Given the description of an element on the screen output the (x, y) to click on. 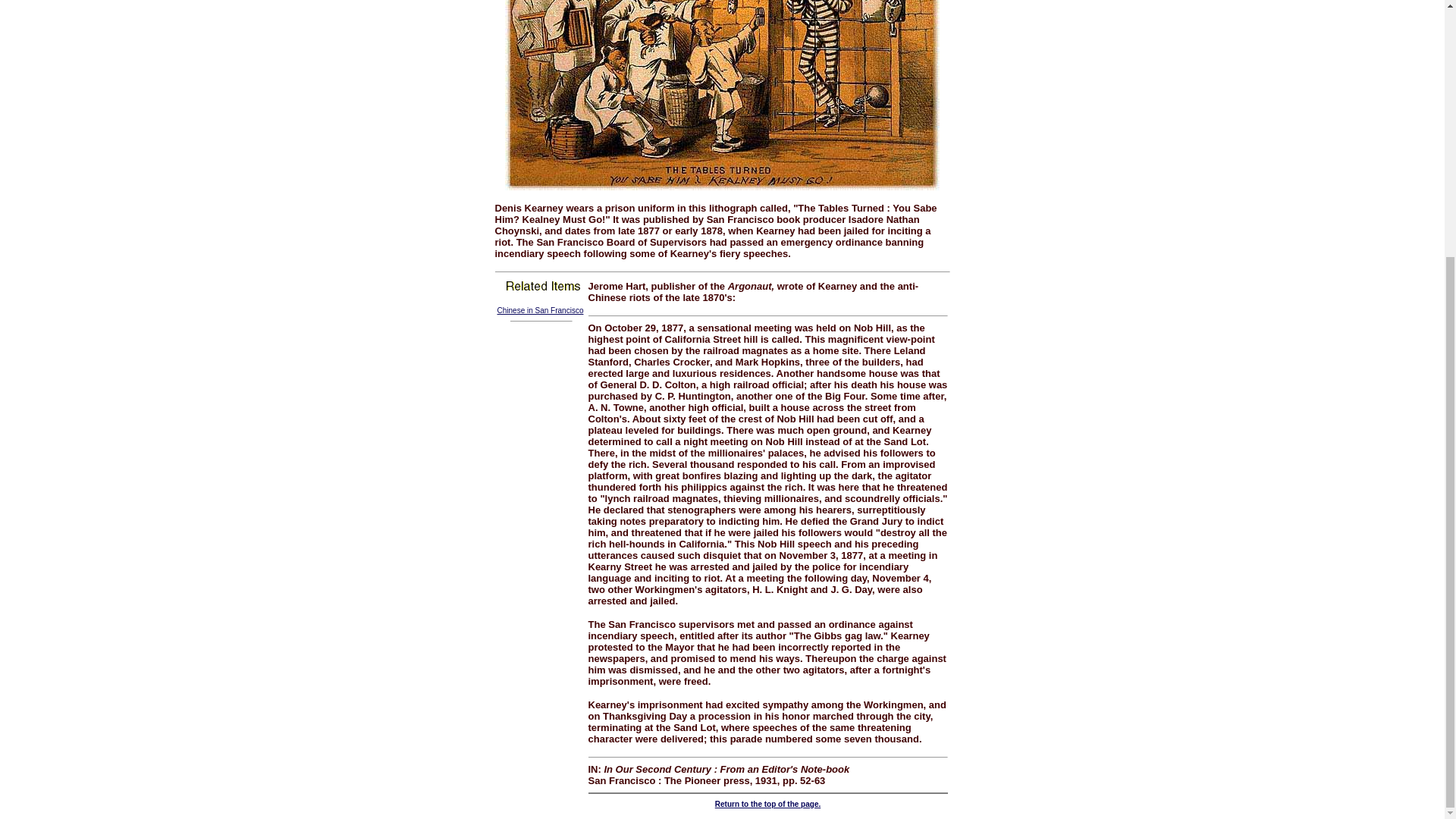
Chinese in San Francisco (540, 310)
Return to the top of the page. (767, 804)
